Given the description of an element on the screen output the (x, y) to click on. 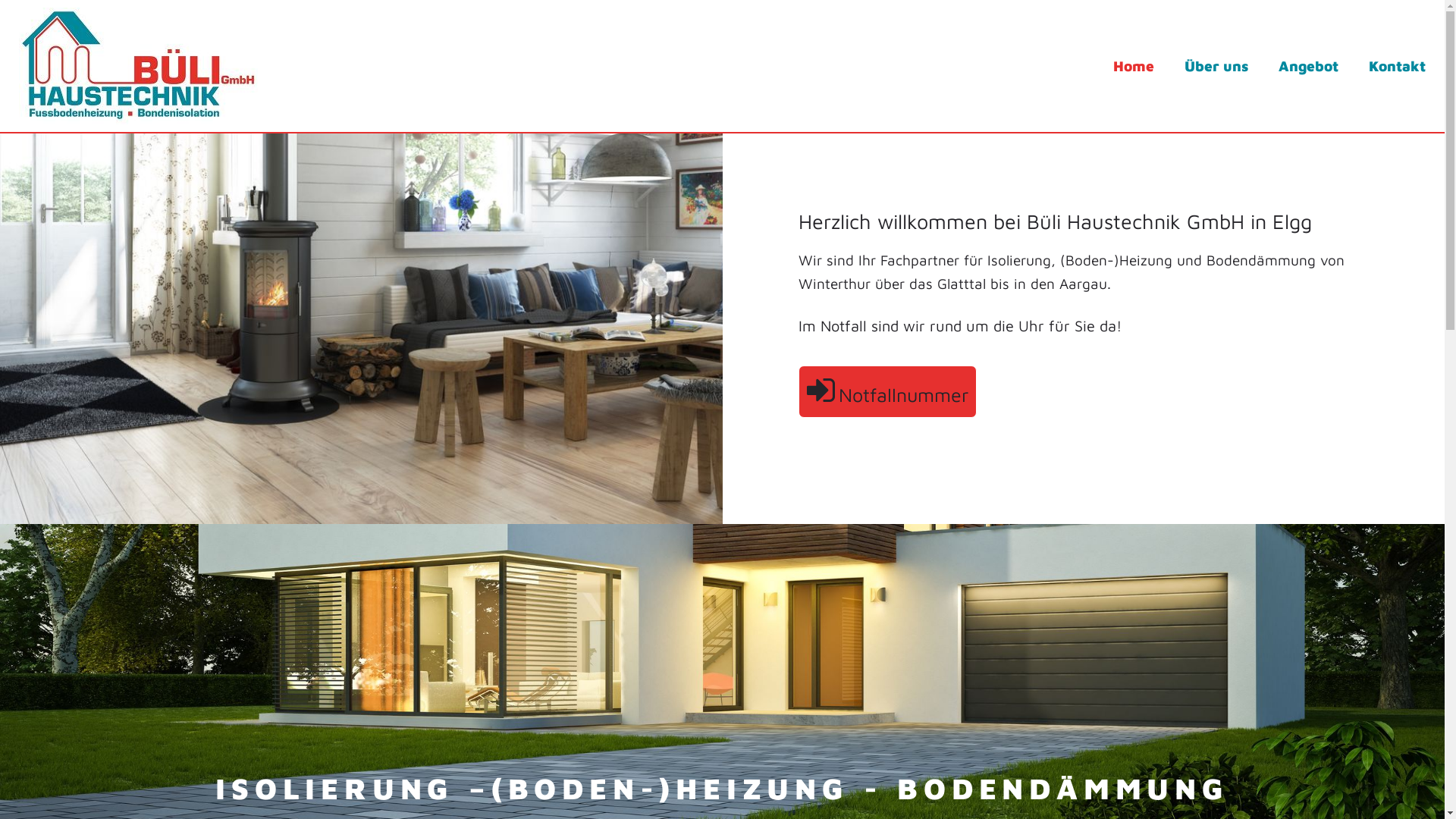
Angebot Element type: text (1308, 65)
Home Element type: text (1133, 65)
Kontakt Element type: text (1396, 65)
Notfallnummer Element type: text (886, 391)
